Given the description of an element on the screen output the (x, y) to click on. 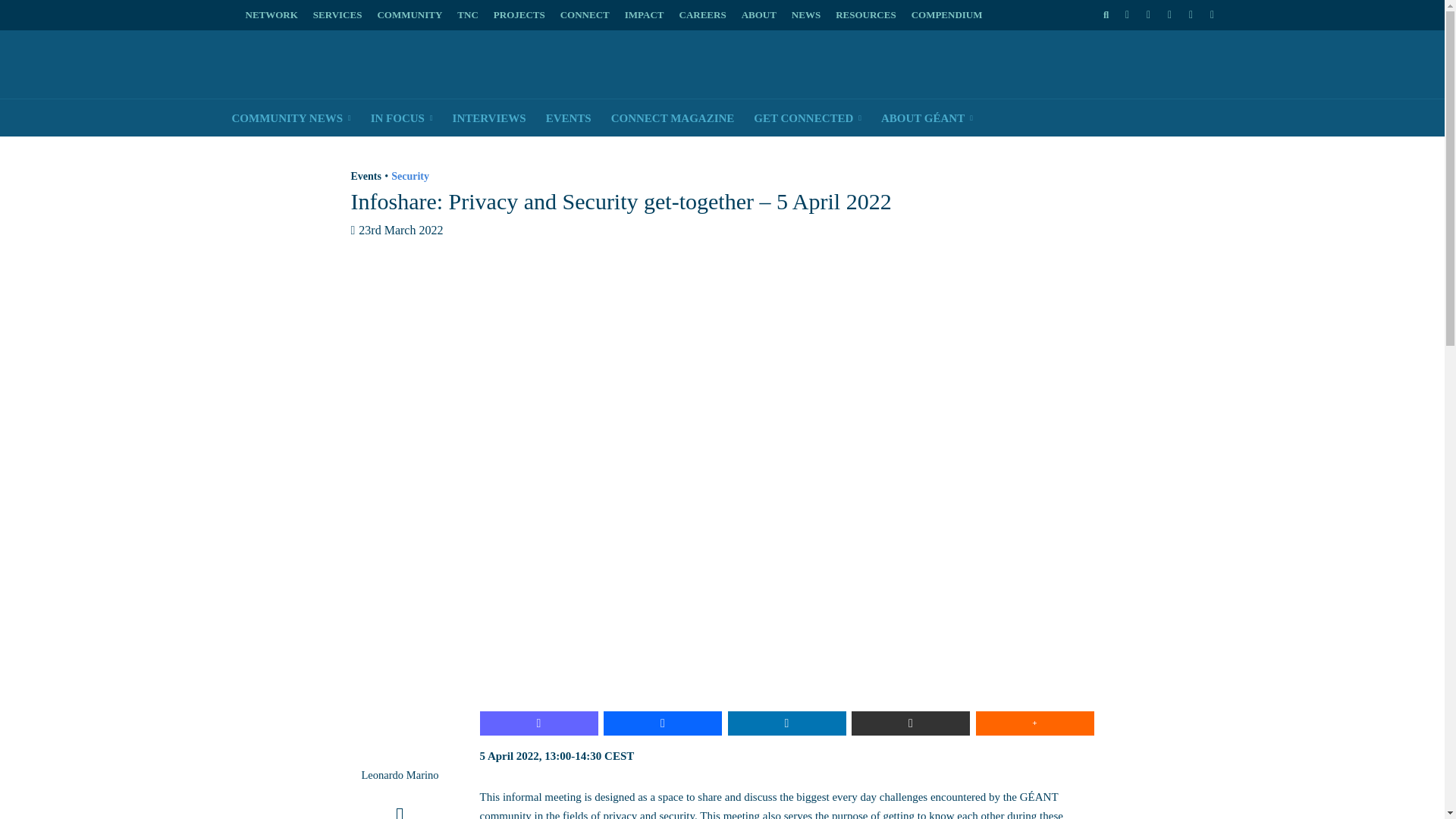
IN FOCUS (401, 118)
GET CONNECTED (807, 118)
COMPENDIUM (947, 15)
INTERVIEWS (488, 118)
ABOUT (758, 15)
CAREERS (702, 15)
More share links (1034, 723)
CONNECT (585, 15)
CONNECT MAGAZINE (672, 118)
SERVICES (337, 15)
